Given the description of an element on the screen output the (x, y) to click on. 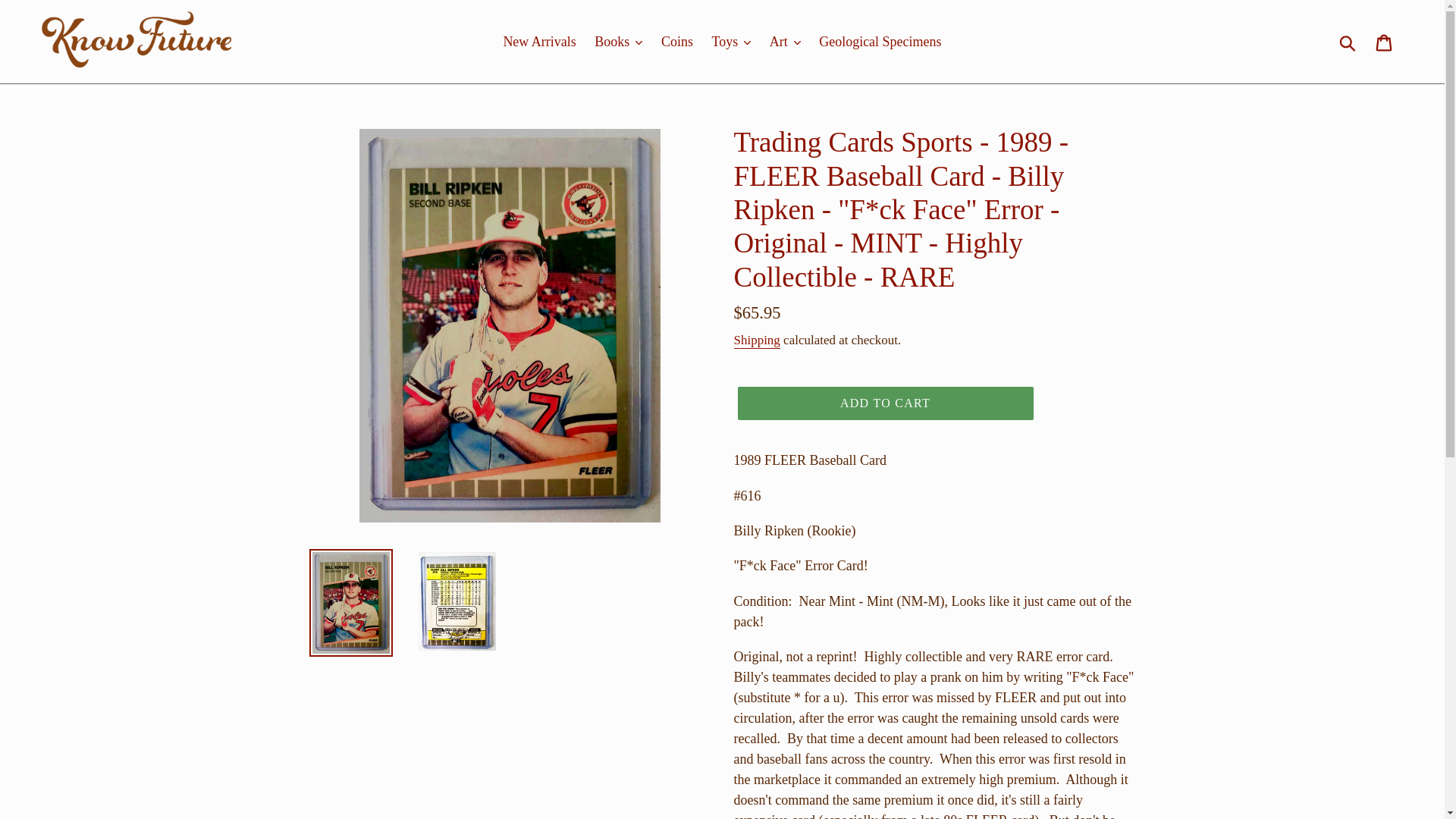
Cart (1385, 41)
New Arrivals (539, 41)
Coins (676, 41)
Submit (1348, 41)
Geological Specimens (879, 41)
